Given the description of an element on the screen output the (x, y) to click on. 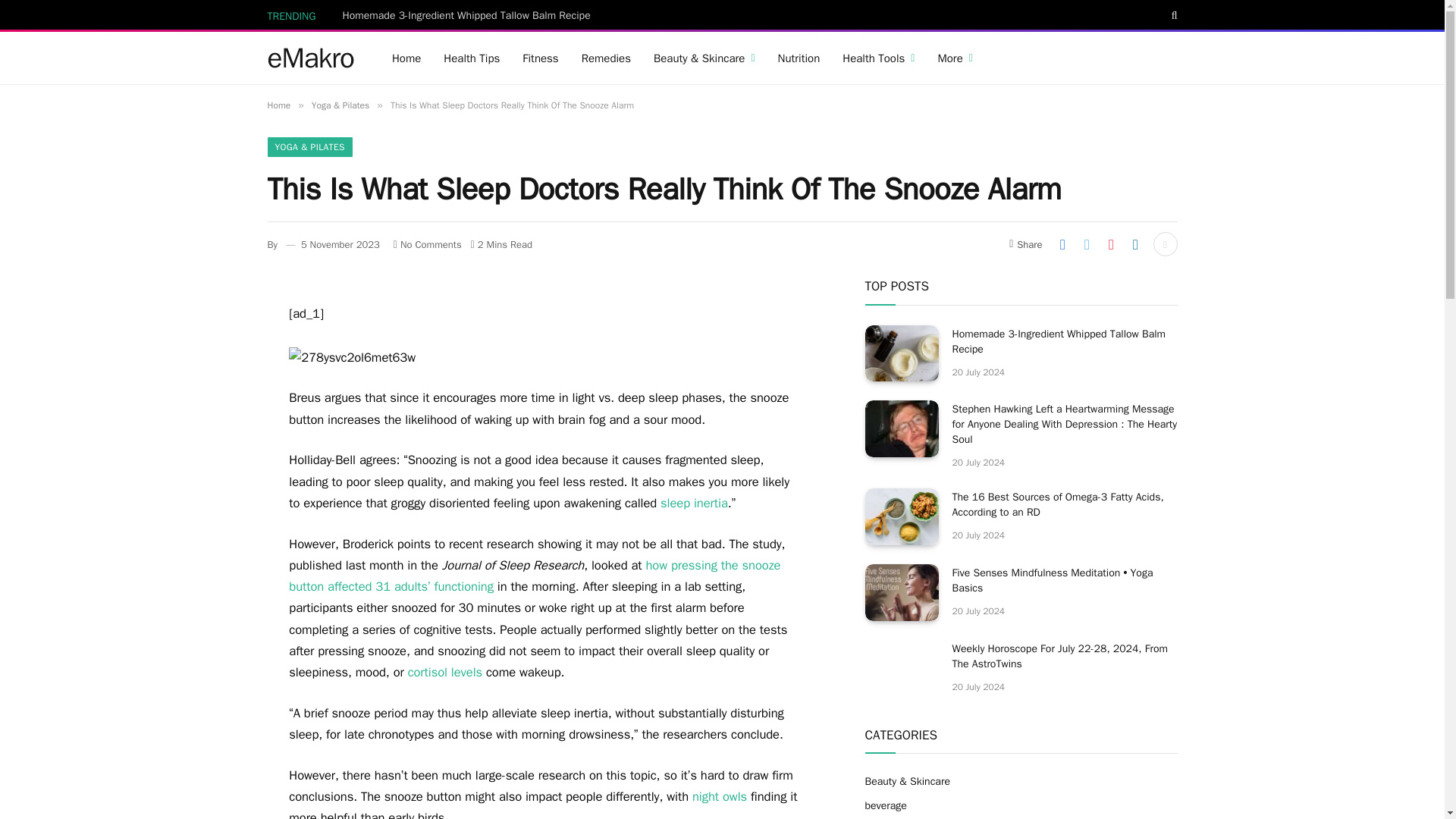
Share on Facebook (1062, 243)
Share on Pinterest (1110, 243)
Home (406, 57)
Share on LinkedIn (1135, 243)
Remedies (606, 57)
More (955, 57)
Nutrition (799, 57)
Health Tips (471, 57)
Homemade 3-Ingredient Whipped Tallow Balm Recipe (470, 15)
Fitness (540, 57)
